Given the description of an element on the screen output the (x, y) to click on. 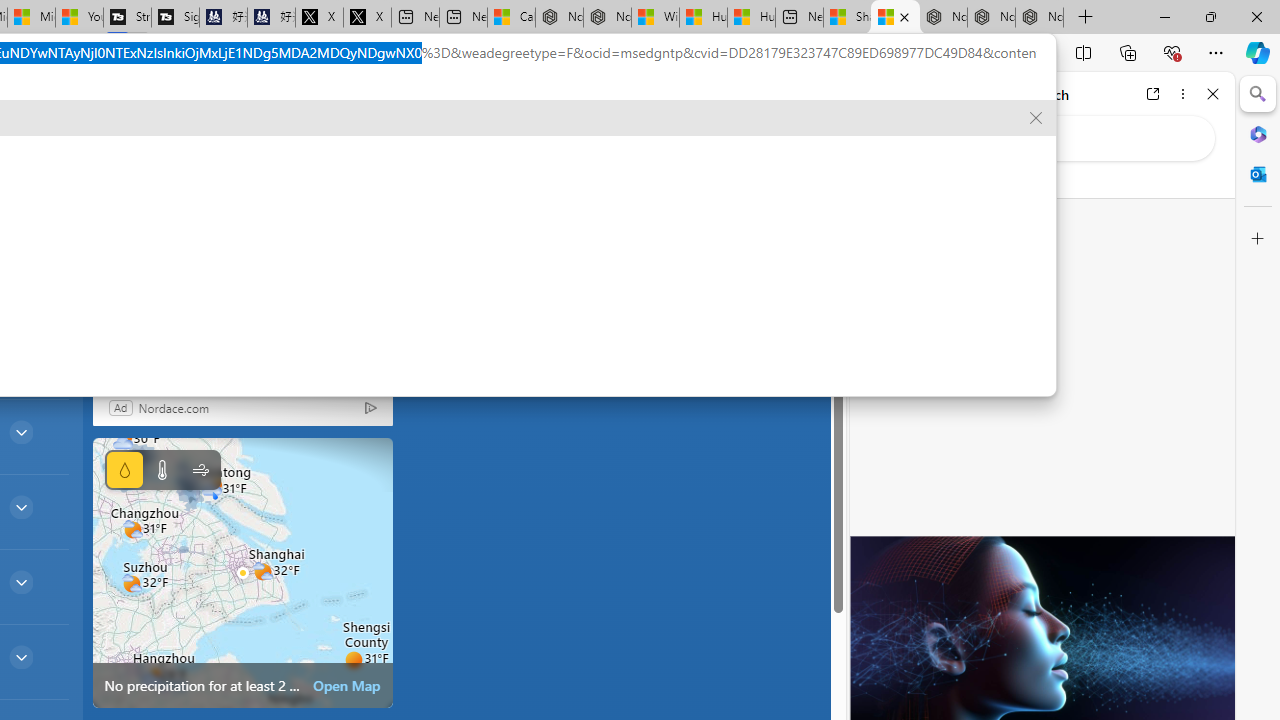
Air Quality (167, 162)
Microsoft rewards (707, 105)
Customize (1258, 239)
Web scope (882, 180)
Open link in new tab (1153, 93)
More options (1182, 93)
Home (938, 93)
Air Quality (159, 162)
Nordace - Best Sellers (943, 17)
To get missing image descriptions, open the context menu. (449, 162)
Search the web (1051, 137)
Remove suggestion (1036, 117)
